Given the description of an element on the screen output the (x, y) to click on. 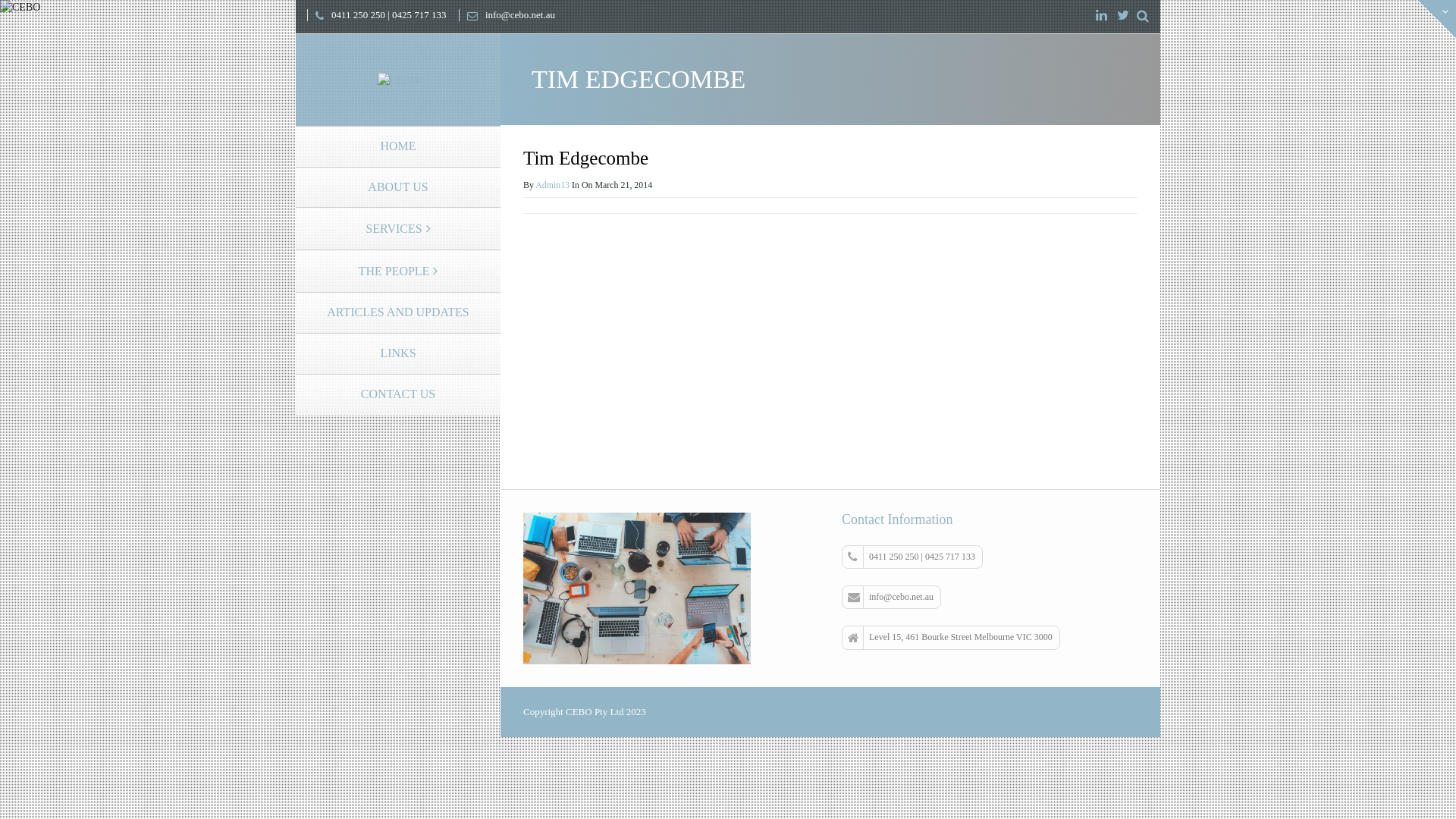
CONTACT US Element type: text (397, 393)
Search the Site Element type: hover (1142, 16)
SERVICES Element type: text (397, 228)
LinkedIn Element type: hover (1100, 15)
Twitter Element type: hover (1123, 15)
Level 15, 461 Bourke Street Melbourne VIC 3000 Element type: text (950, 637)
LINKS Element type: text (397, 352)
CEBO Element type: hover (397, 78)
Admin13 Element type: text (552, 183)
info@cebo.net.au Element type: text (507, 14)
ABOUT US Element type: text (397, 186)
0411 250 250 | 0425 717 133 Element type: text (911, 556)
HOME Element type: text (397, 145)
THE PEOPLE Element type: text (397, 270)
ARTICLES AND UPDATES Element type: text (397, 311)
info@cebo.net.au Element type: text (891, 596)
